Given the description of an element on the screen output the (x, y) to click on. 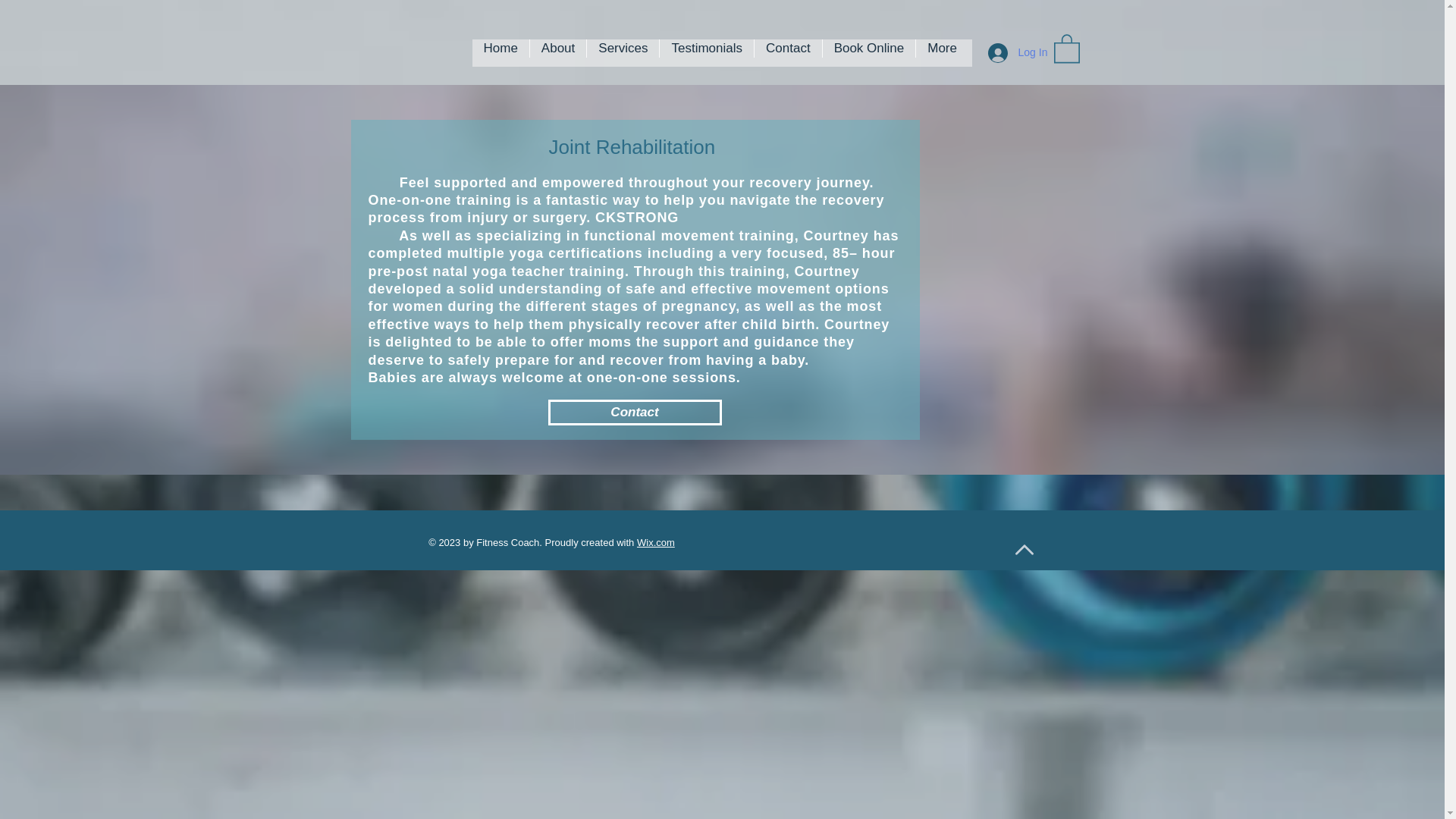
About (557, 52)
Wix.com (656, 542)
Services (622, 52)
Book Online (868, 52)
Testimonials (706, 52)
Home (499, 52)
Log In (1009, 52)
Contact (633, 412)
Contact (788, 52)
